Given the description of an element on the screen output the (x, y) to click on. 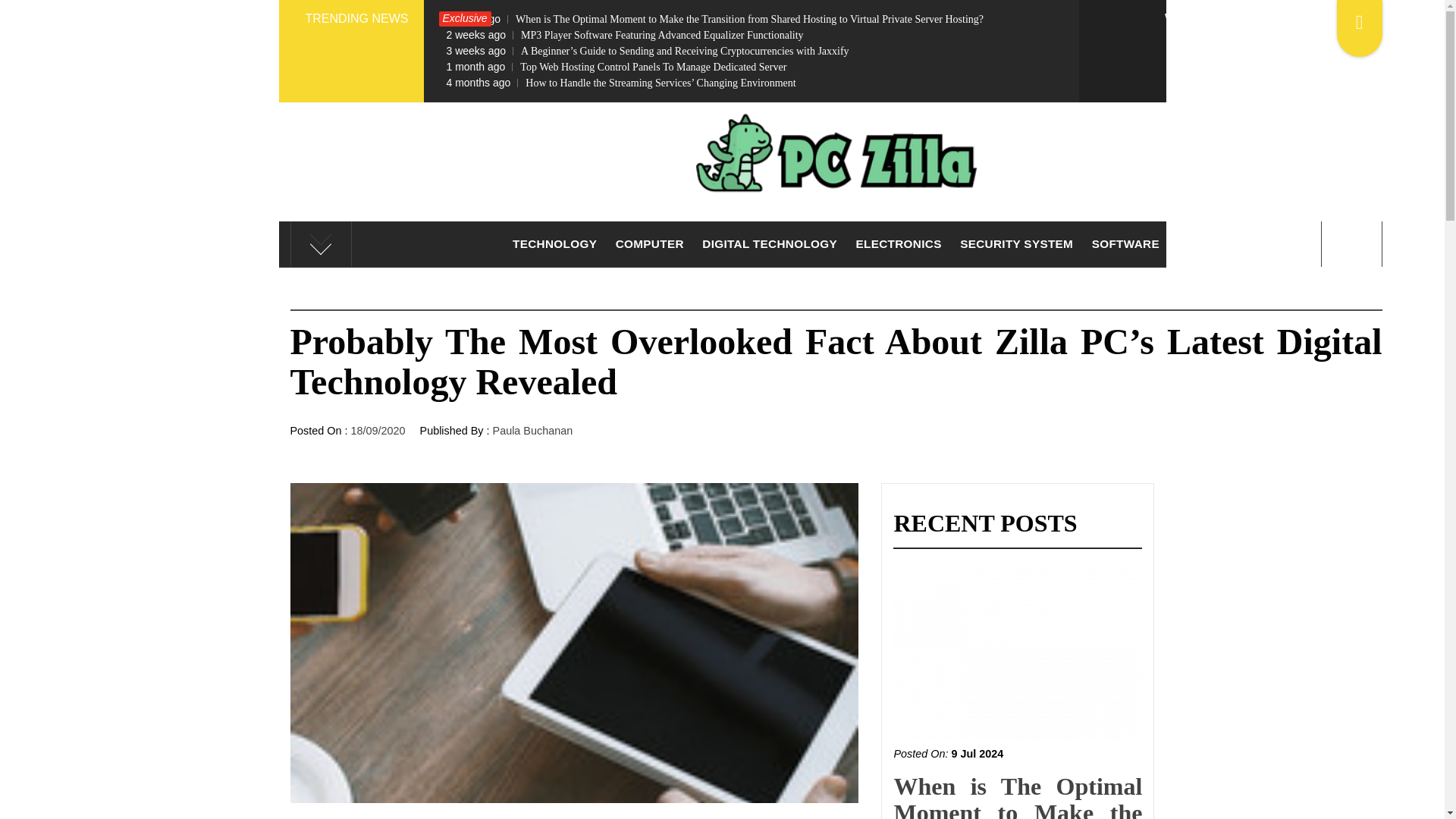
SECURITY SYSTEM (1016, 243)
TECHNOLOGY (554, 243)
ELECTRONICS (898, 243)
SOFTWARE (1125, 243)
COMPUTER (649, 243)
DIGITAL TECHNOLOGY (769, 243)
PC ZILLA (835, 239)
